Given the description of an element on the screen output the (x, y) to click on. 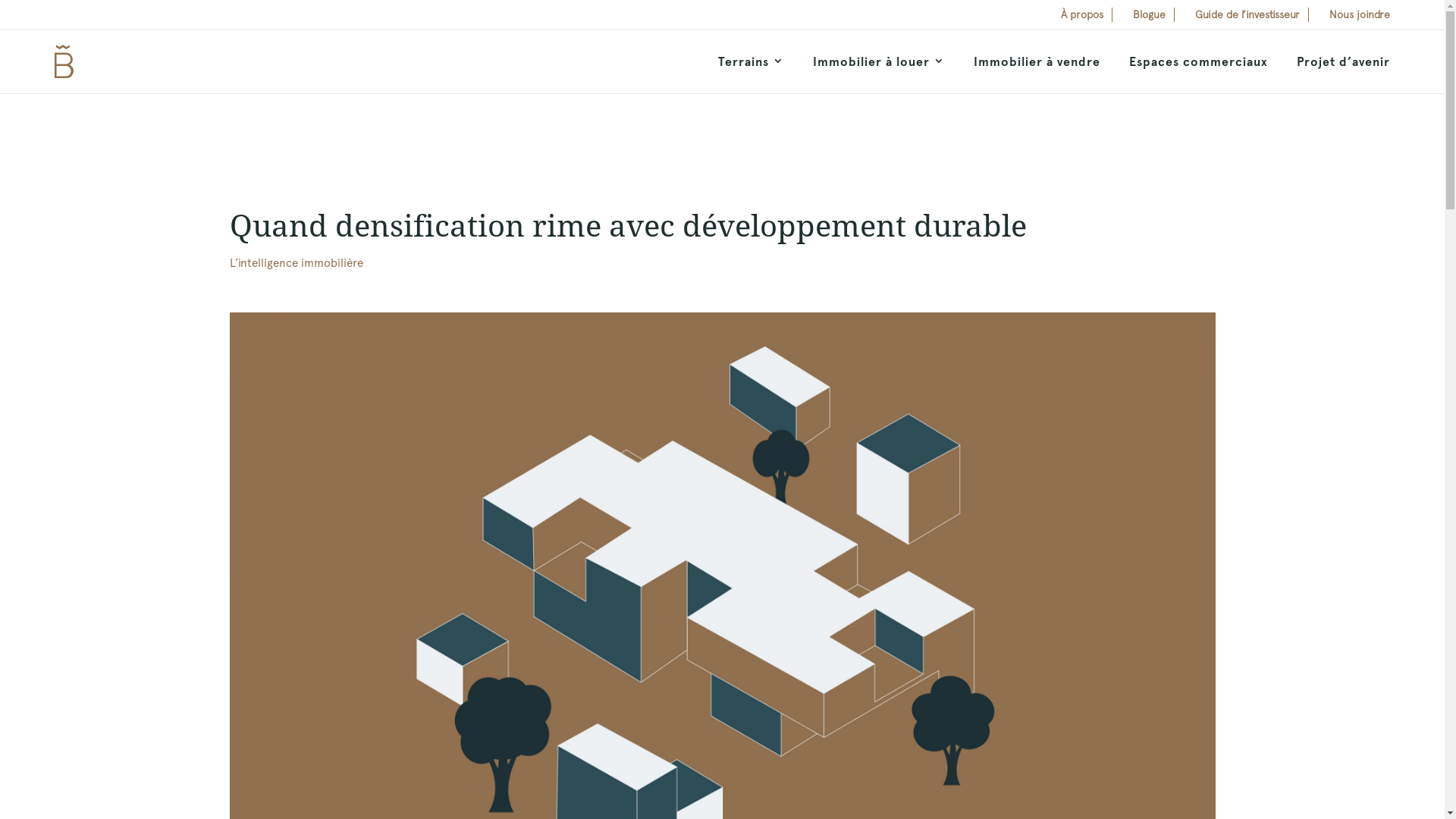
Espaces commerciaux Element type: text (1198, 61)
Nous joindre Element type: text (1359, 14)
Blogue Element type: text (1148, 14)
Terrains Element type: text (751, 61)
